Given the description of an element on the screen output the (x, y) to click on. 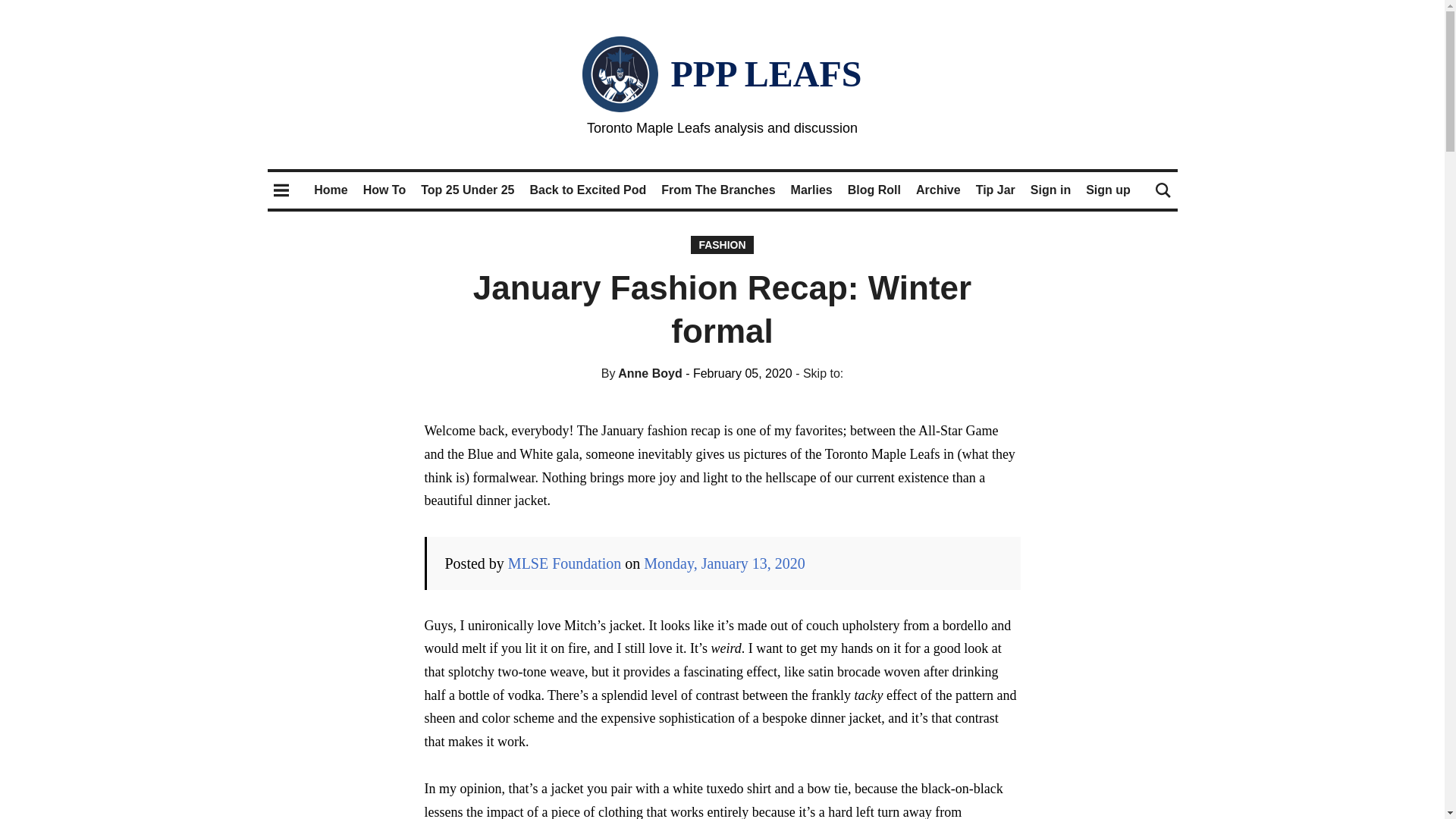
Sign up (1108, 189)
Archive (937, 189)
Monday, January 13, 2020 (724, 563)
Marlies (811, 189)
05 February, 2020 (738, 373)
From The Branches (717, 189)
Top 25 Under 25 (466, 189)
By Anne Boyd (641, 373)
Back to Excited Pod (587, 189)
FASHION (721, 244)
MLSE Foundation (564, 563)
Tip Jar (994, 189)
How To (384, 189)
PPP LEAFS (765, 74)
Blog Roll (874, 189)
